Given the description of an element on the screen output the (x, y) to click on. 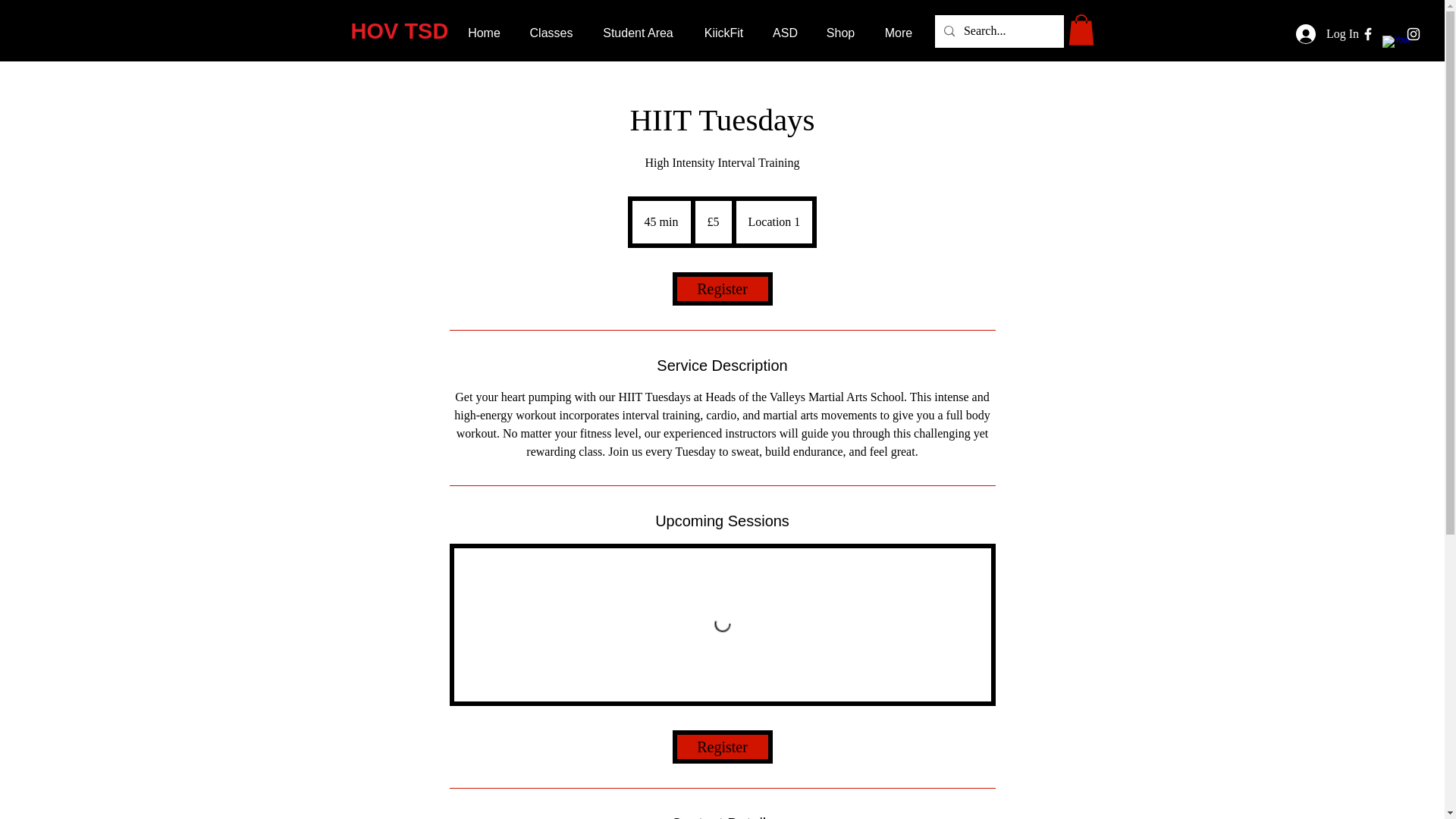
ASD (784, 32)
KiickFit (723, 32)
Register (721, 746)
Register (721, 288)
Student Area (637, 32)
Shop (839, 32)
Log In (1327, 33)
HOV TSD (399, 30)
Home (483, 32)
Classes (551, 32)
